Given the description of an element on the screen output the (x, y) to click on. 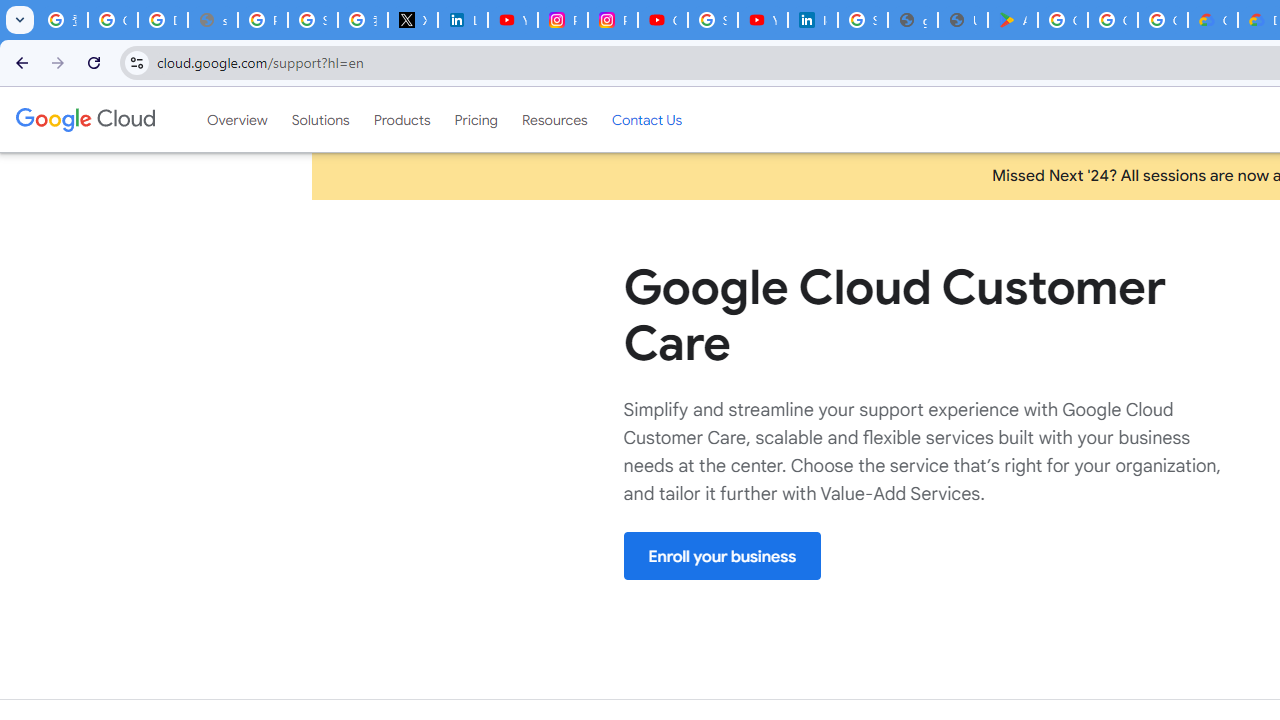
Resources (553, 119)
Google Cloud (84, 119)
Products (401, 119)
google_privacy_policy_en.pdf (913, 20)
User Details (963, 20)
Pricing (476, 119)
